Given the description of an element on the screen output the (x, y) to click on. 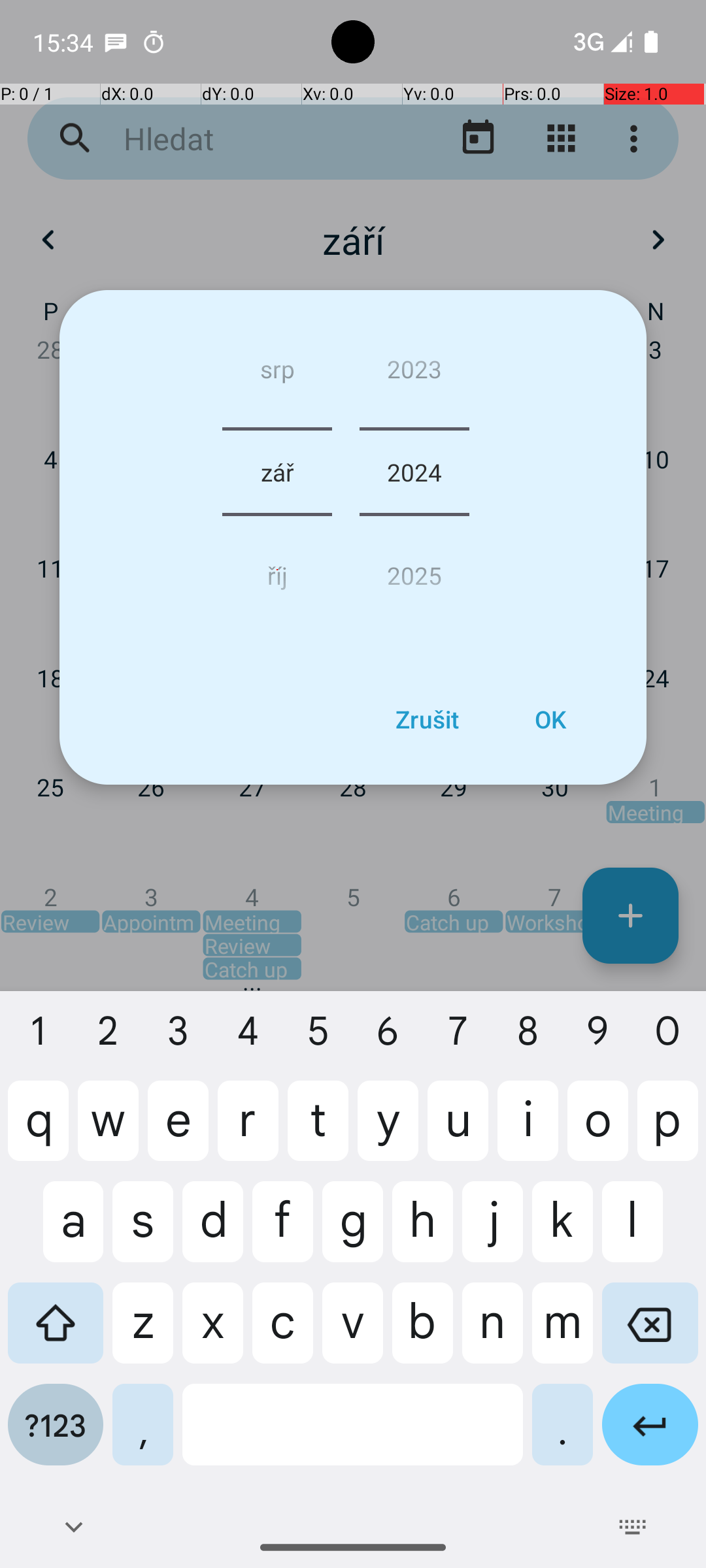
Zrušit Element type: android.widget.Button (426, 719)
srp Element type: android.widget.Button (277, 373)
zář Element type: android.widget.EditText (277, 471)
říj Element type: android.widget.Button (277, 569)
